Given the description of an element on the screen output the (x, y) to click on. 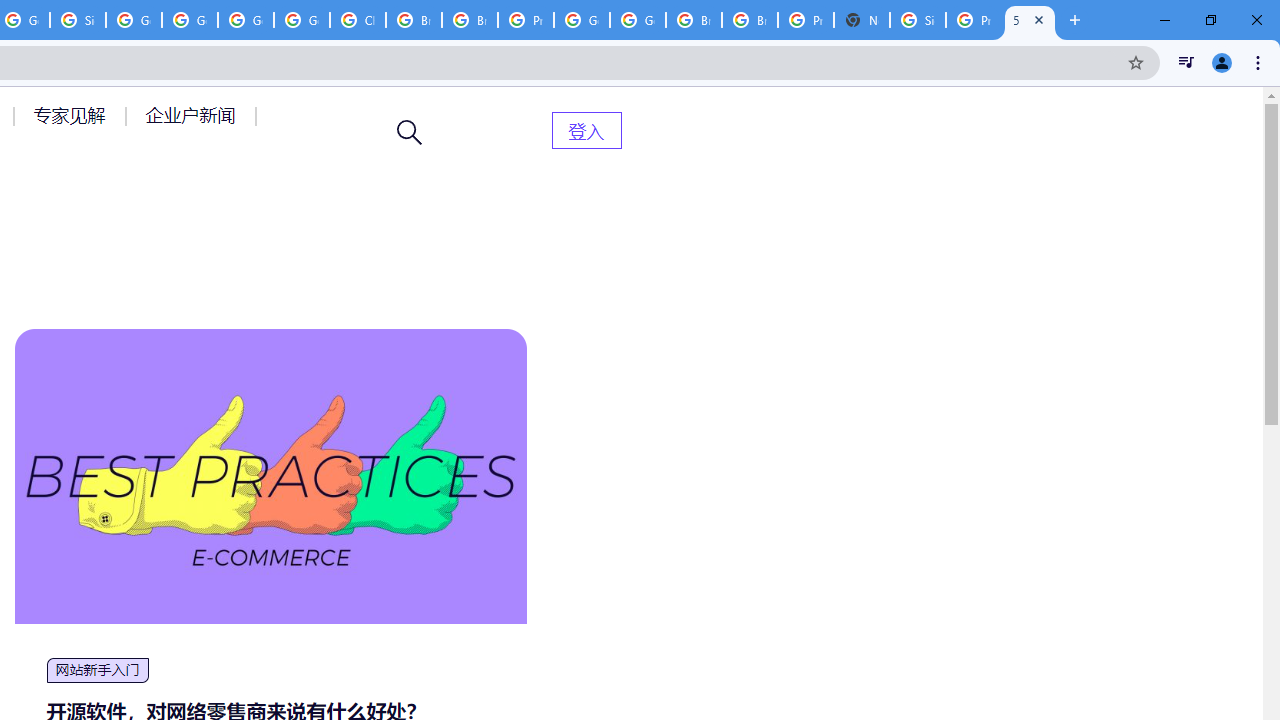
New Tab (1075, 20)
Control your music, videos, and more (1185, 62)
Open search form (410, 132)
Browse Chrome as a guest - Computer - Google Chrome Help (469, 20)
Bookmark this tab (1135, 62)
Google Cloud Platform (245, 20)
AutomationID: menu-item-77764 (72, 115)
Sign in - Google Accounts (77, 20)
Chrome (1260, 62)
